Given the description of an element on the screen output the (x, y) to click on. 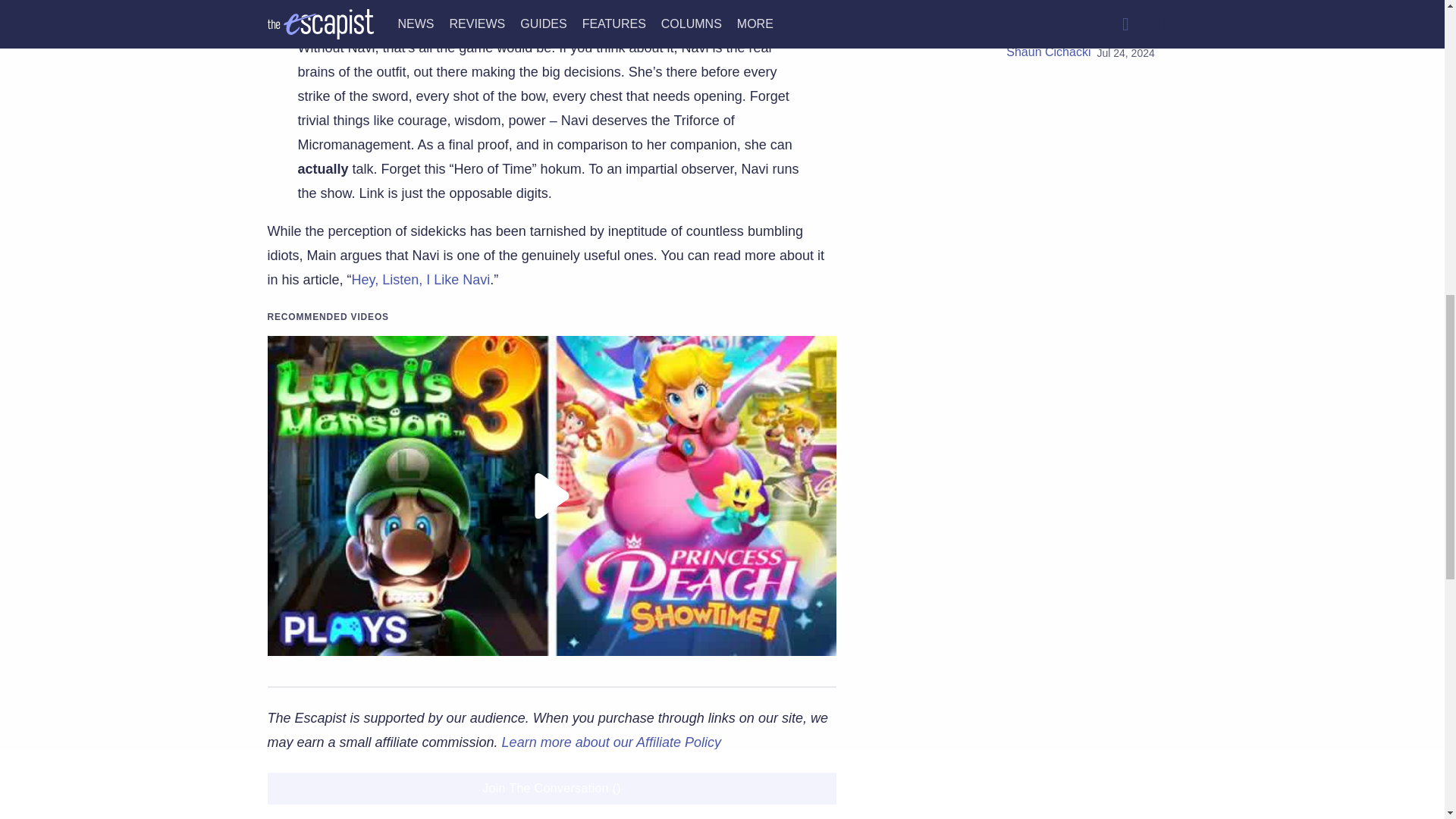
3rd party ad content (1024, 545)
3rd party ad content (1024, 199)
